Given the description of an element on the screen output the (x, y) to click on. 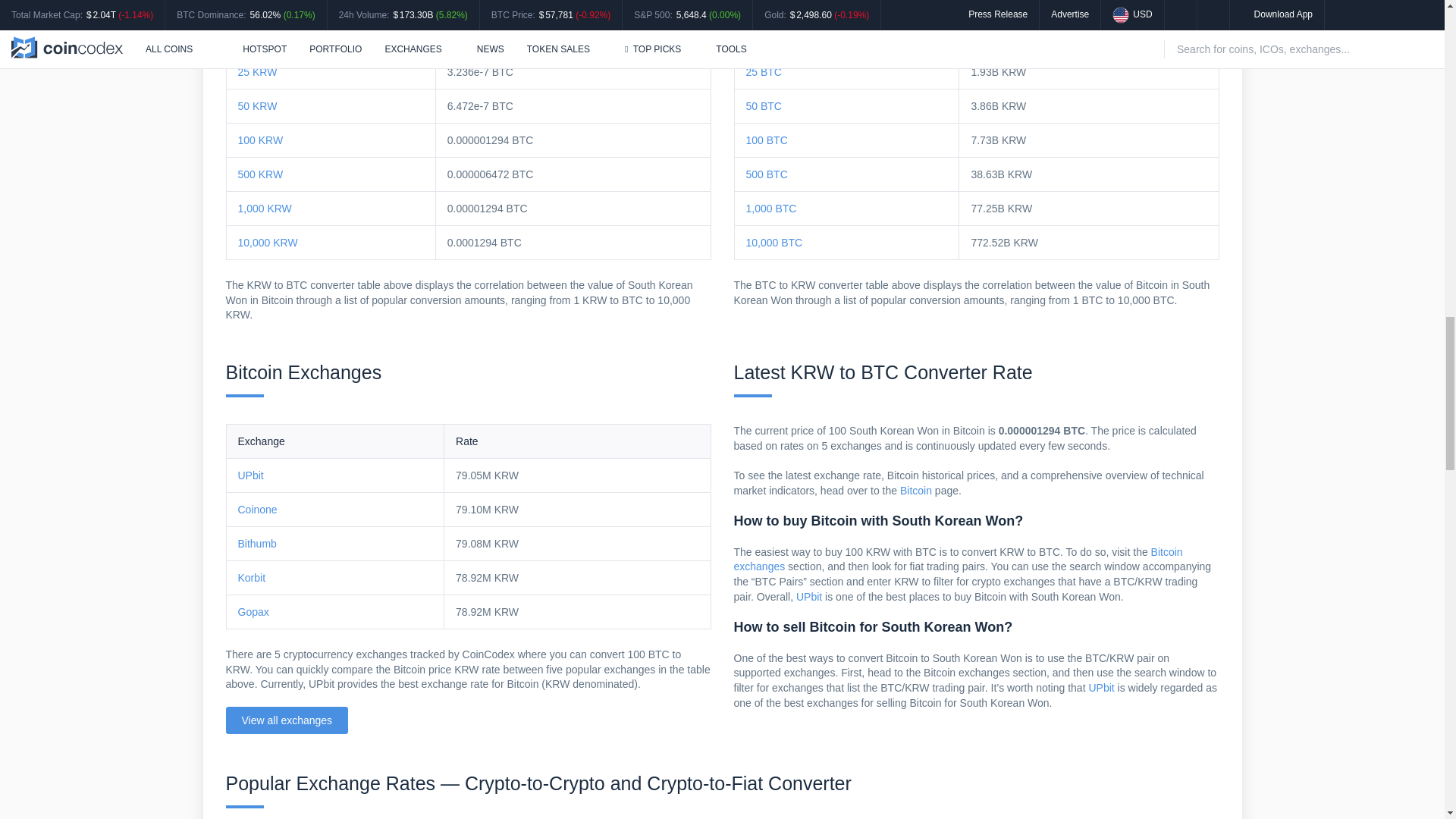
100 BTC (766, 140)
50 BTC (763, 105)
5 BTC (760, 4)
10 BTC (763, 37)
25 BTC (763, 71)
1,000 BTC (770, 208)
25 KRW (258, 71)
1,000 KRW (265, 208)
500 BTC (766, 174)
10,000 KRW (268, 242)
